Given the description of an element on the screen output the (x, y) to click on. 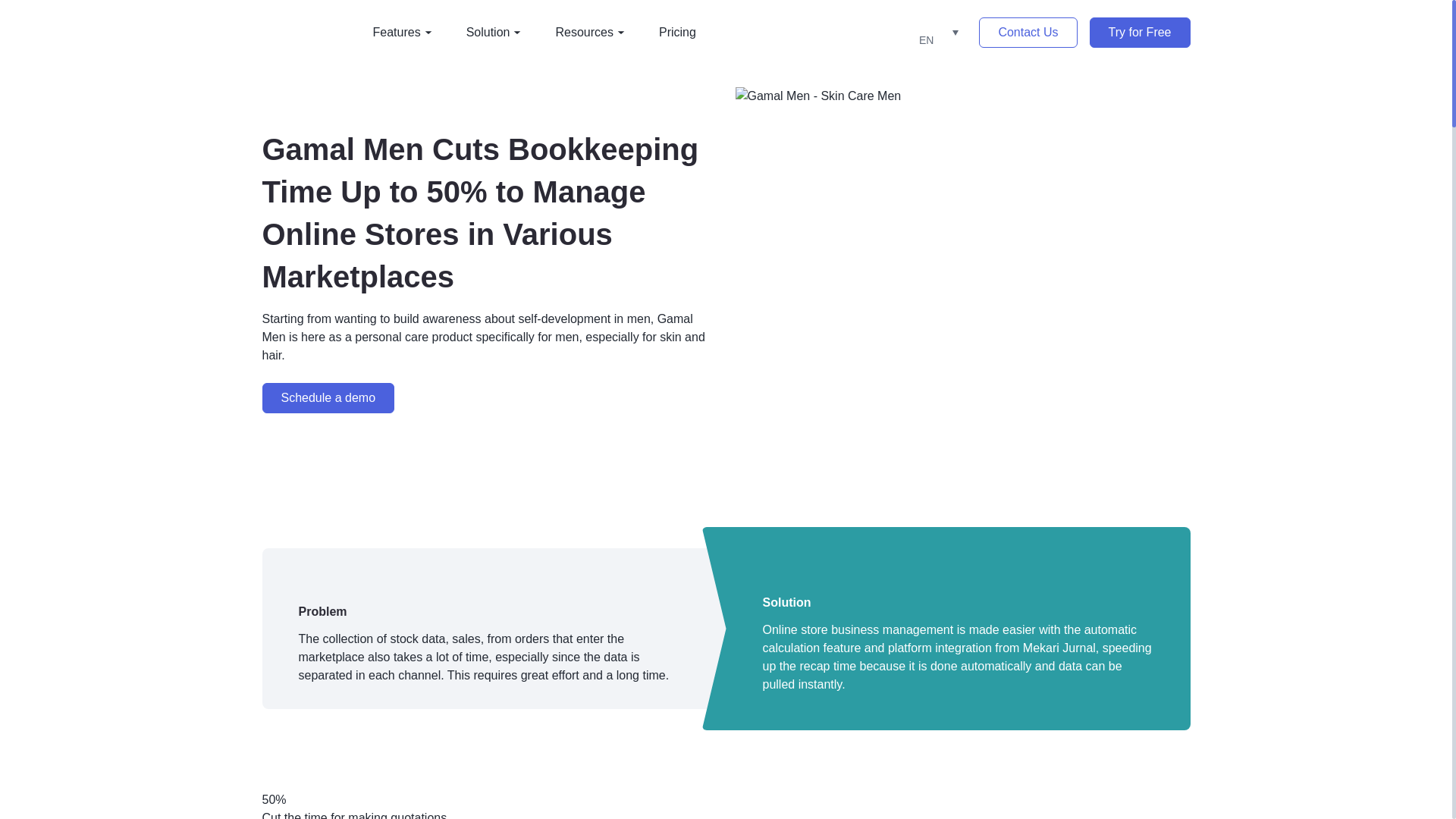
EN (935, 32)
Try for Free (1140, 32)
Pricing (677, 32)
Contact Us (1027, 32)
Mekari Jurnal (302, 31)
